Given the description of an element on the screen output the (x, y) to click on. 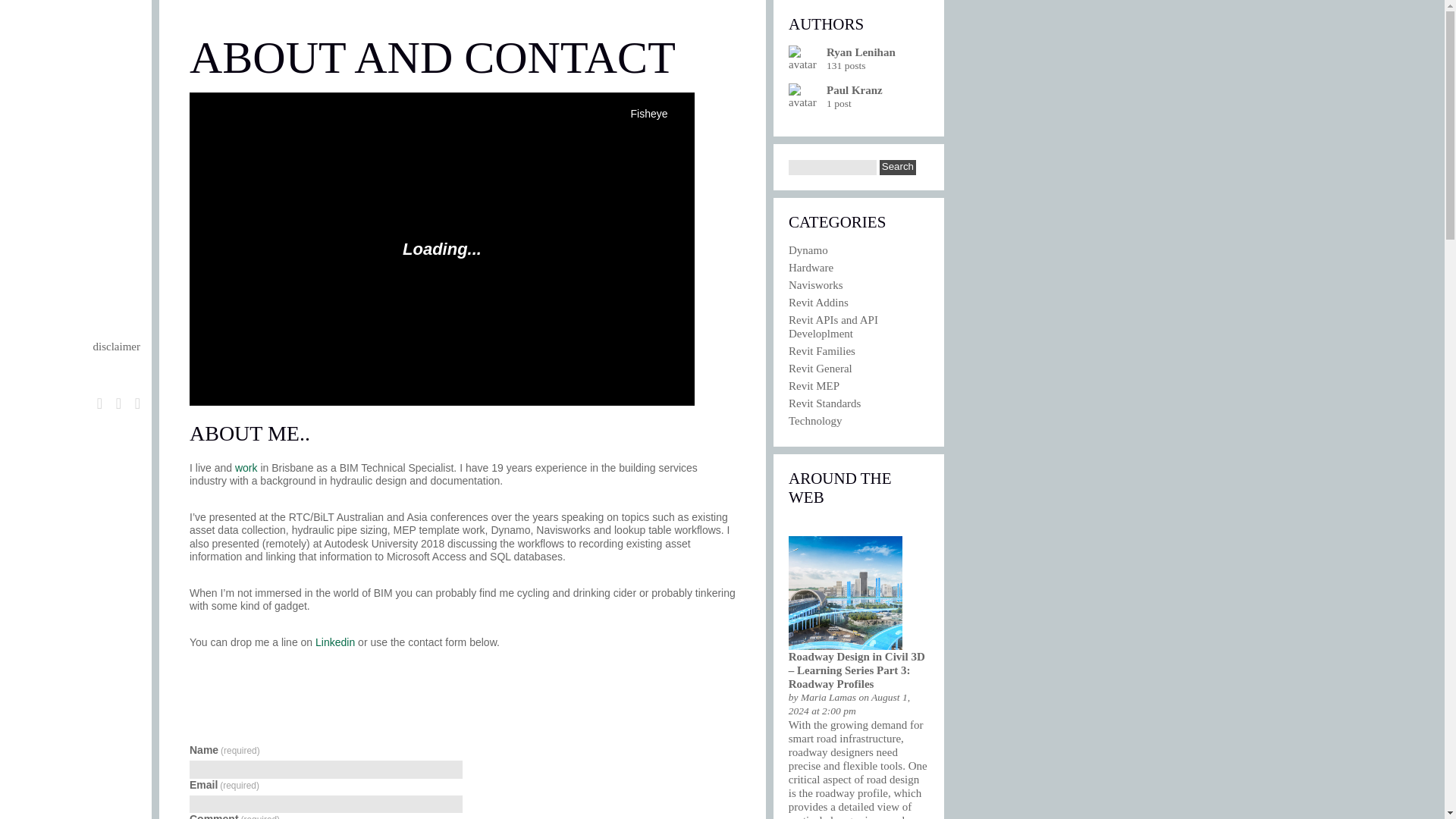
Search (897, 167)
Revit APIs and API Developlment (833, 326)
Search (897, 167)
PRIVACY POLICY (105, 281)
DOWNLOADS (88, 187)
Revit General (820, 368)
Hardware (810, 267)
Technology (816, 420)
ABOUT AND CONTACT (93, 240)
Maria Lamas (828, 696)
Paul Kranz (854, 90)
Navisworks (816, 285)
Revit Addins (818, 302)
autodeskblog.wpengine.com (828, 696)
Ryan Lenihan (861, 51)
